Given the description of an element on the screen output the (x, y) to click on. 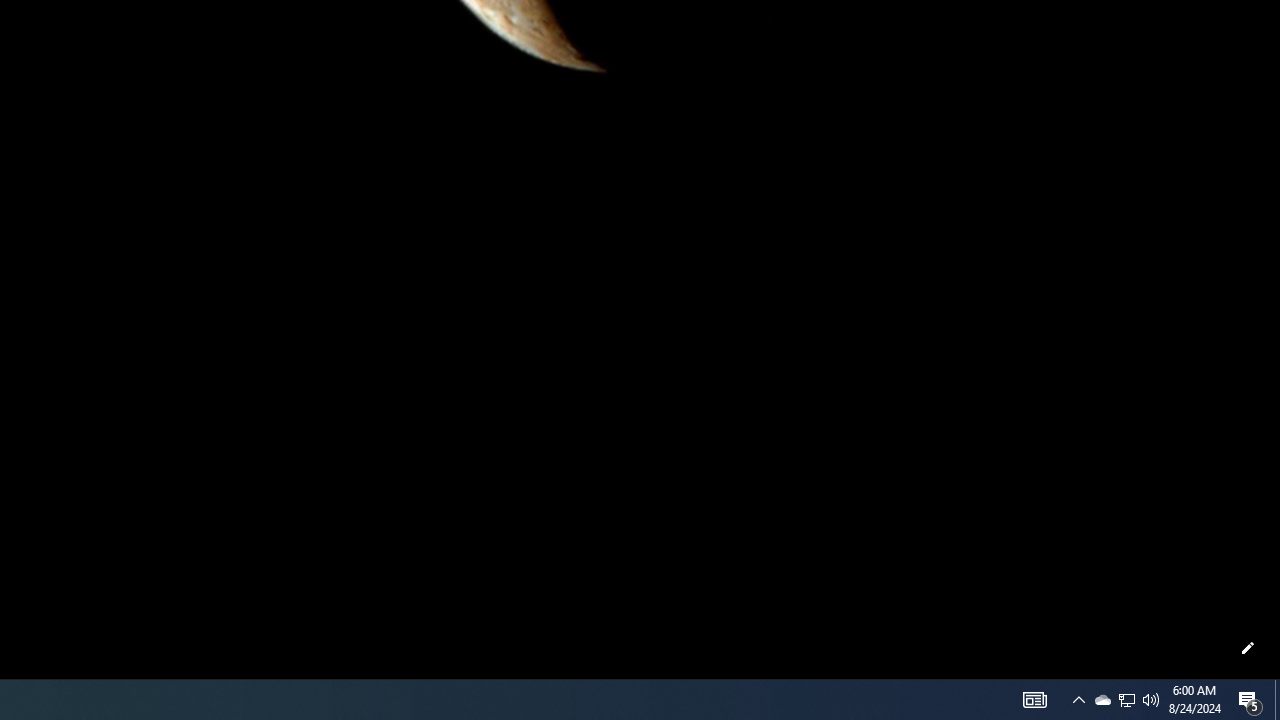
Customize this page (1247, 647)
